Given the description of an element on the screen output the (x, y) to click on. 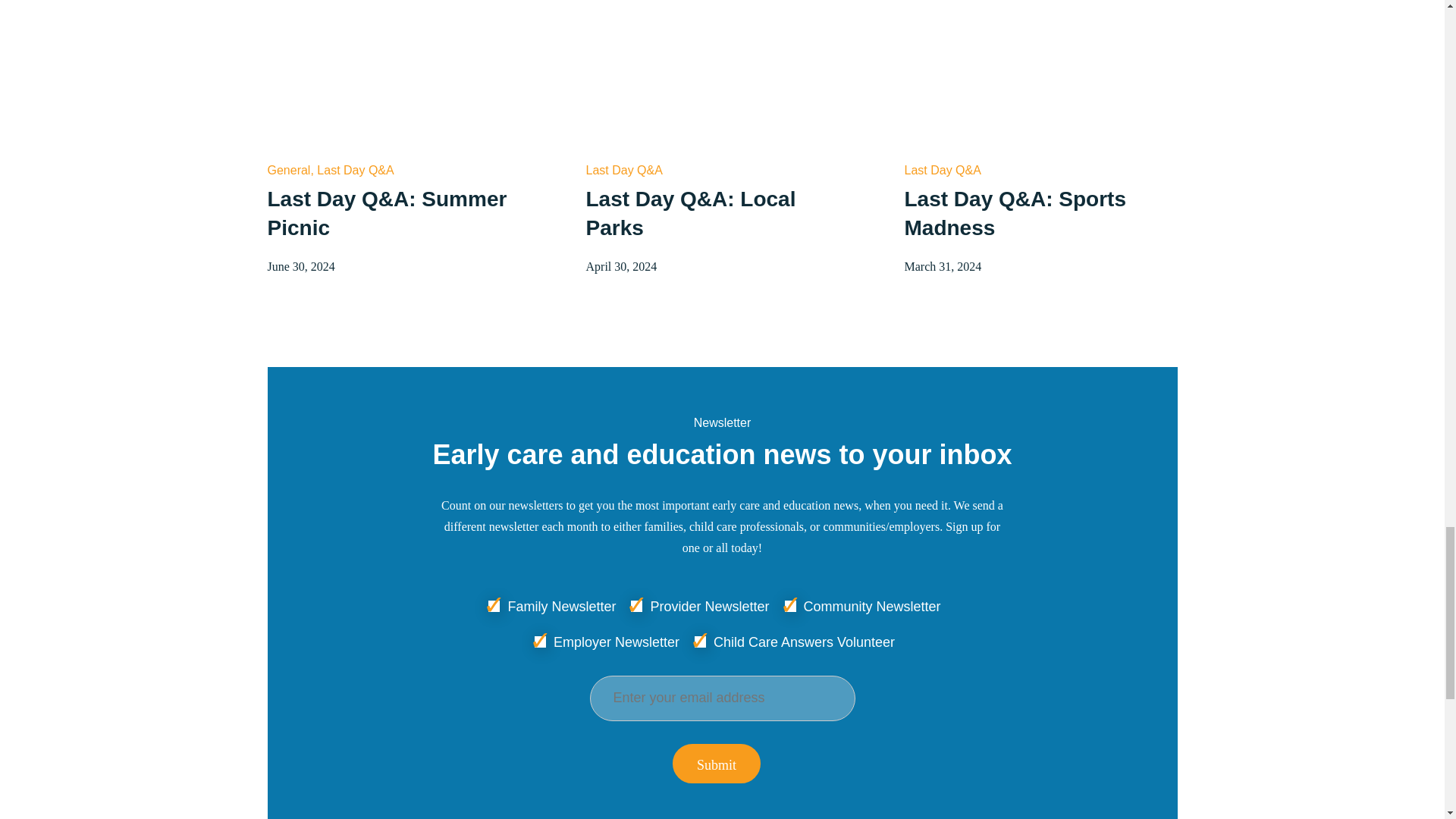
Submit (716, 762)
